Given the description of an element on the screen output the (x, y) to click on. 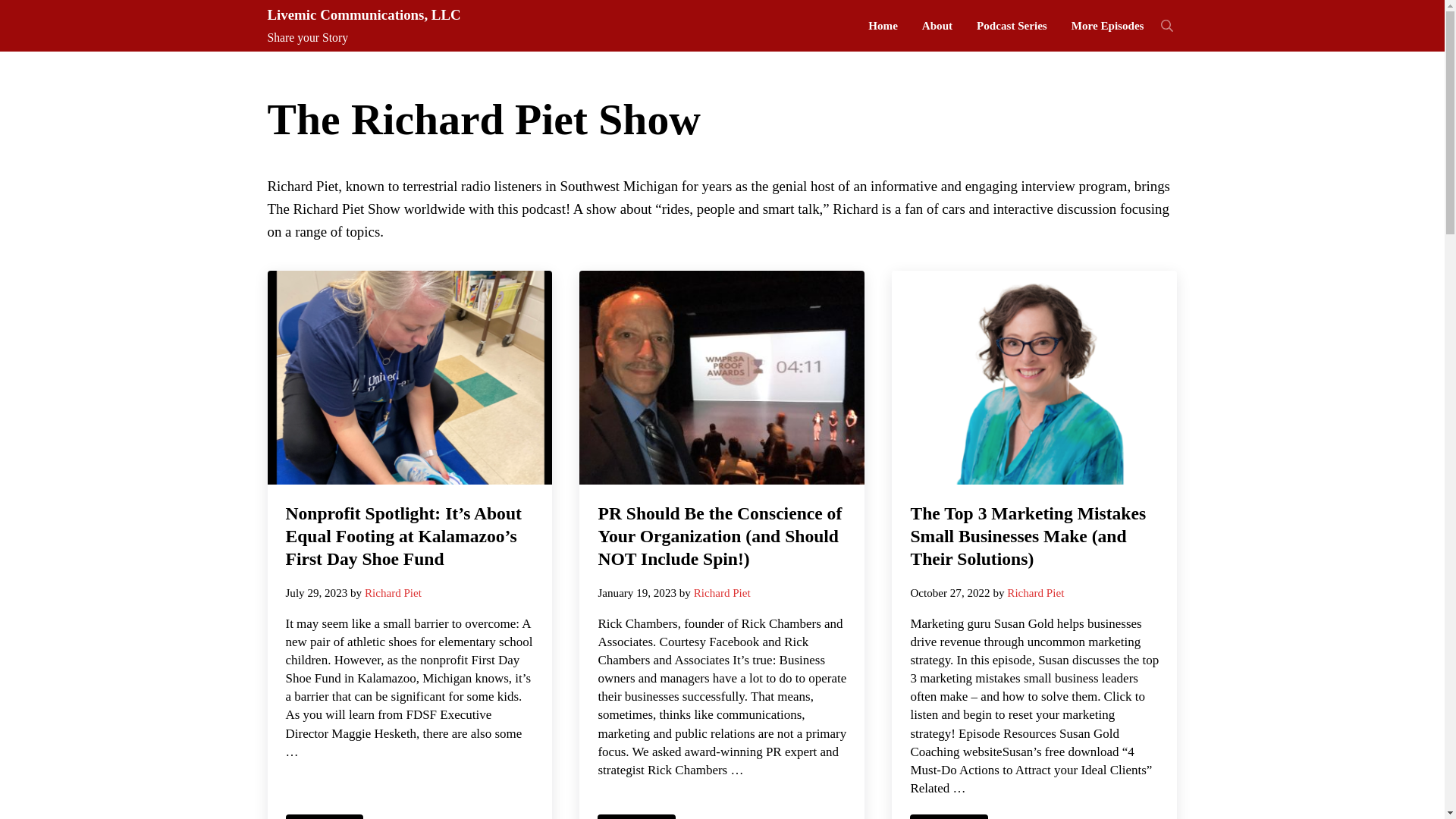
Home (883, 25)
Livemic Communications, LLC (363, 14)
About (936, 25)
Podcast Series (1011, 25)
Richard Piet (722, 592)
Richard Piet (1035, 592)
More Episodes (1107, 25)
Richard Piet (393, 592)
